Given the description of an element on the screen output the (x, y) to click on. 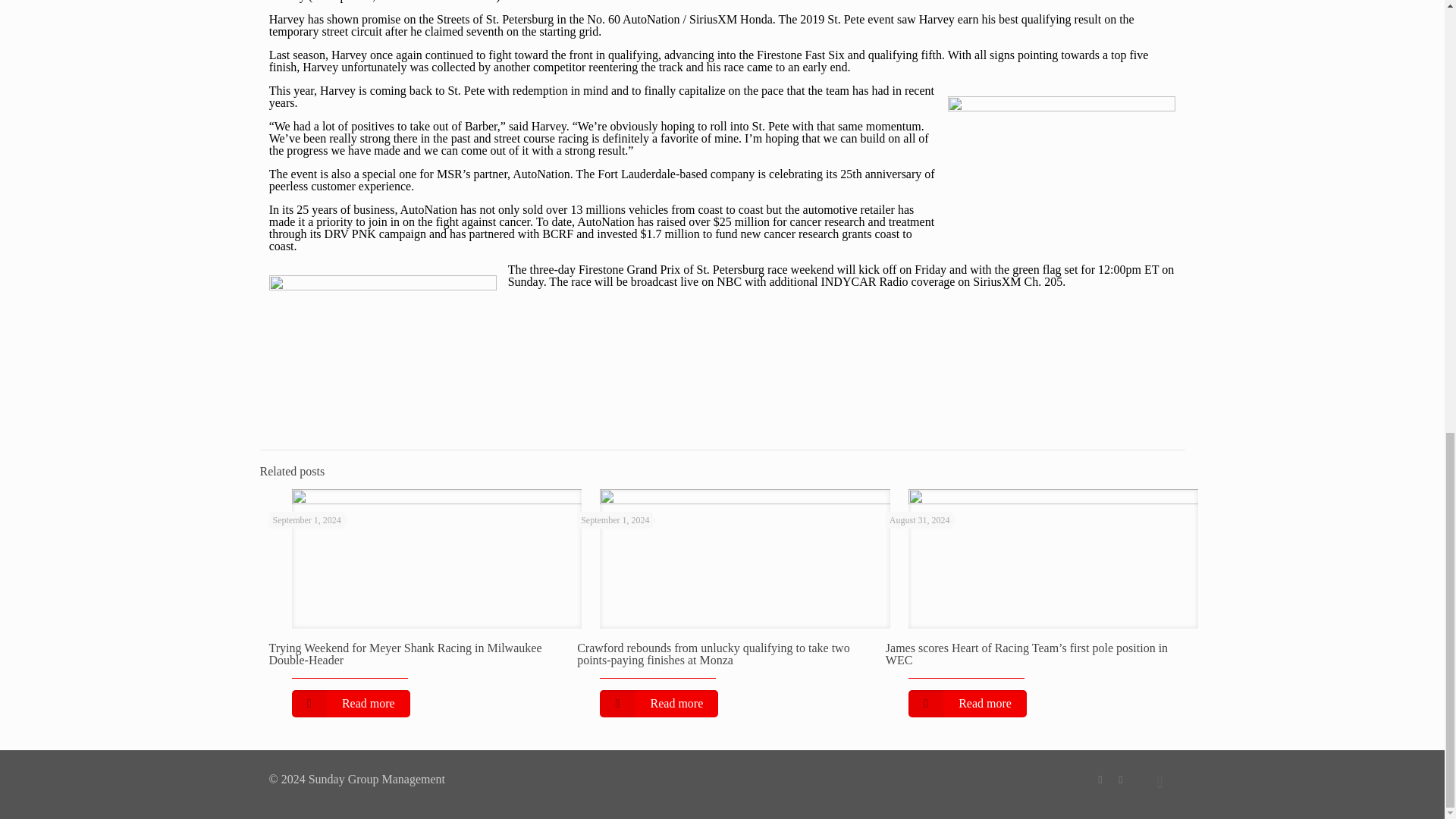
Read more (350, 703)
Facebook (1100, 779)
Read more (658, 703)
Twitter (1121, 779)
Read more (967, 703)
